Given the description of an element on the screen output the (x, y) to click on. 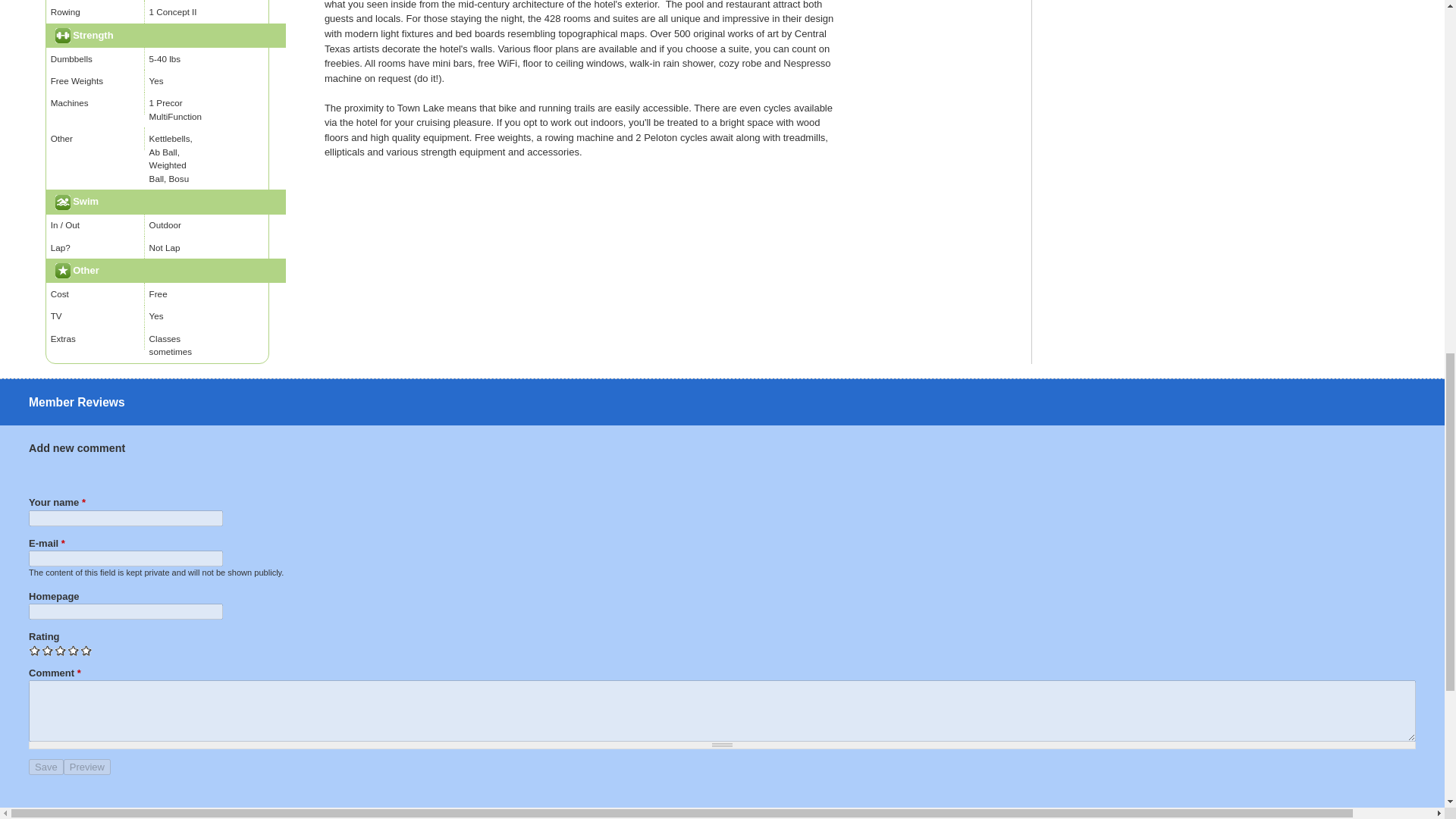
Preview (87, 766)
Save (46, 766)
